Given the description of an element on the screen output the (x, y) to click on. 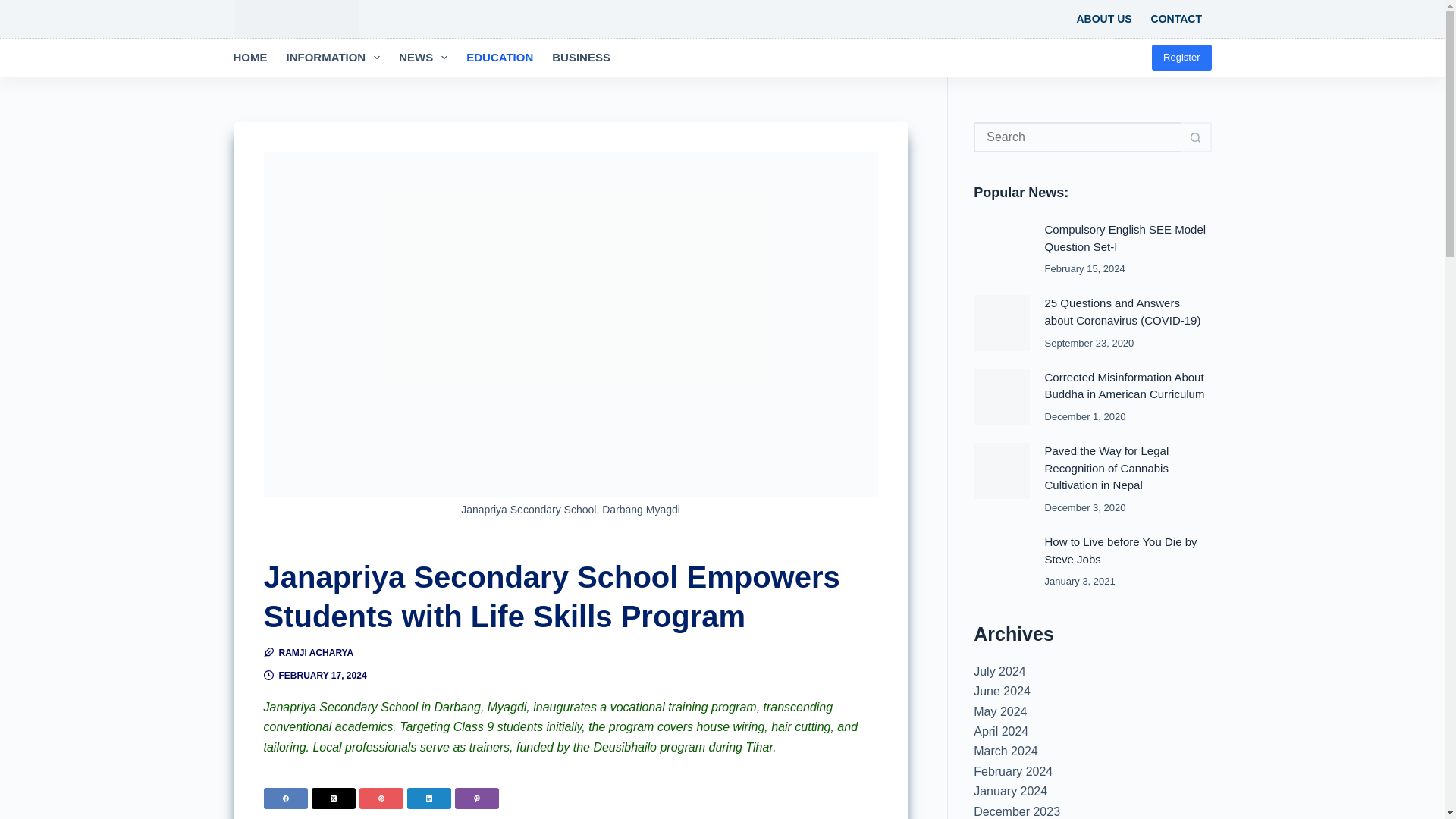
HOME (255, 57)
Posts by Ramji Acharya (316, 652)
NEWS (423, 57)
ABOUT US (1104, 18)
Search for... (1077, 137)
INFORMATION (333, 57)
Skip to content (15, 7)
CONTACT (1176, 18)
